Given the description of an element on the screen output the (x, y) to click on. 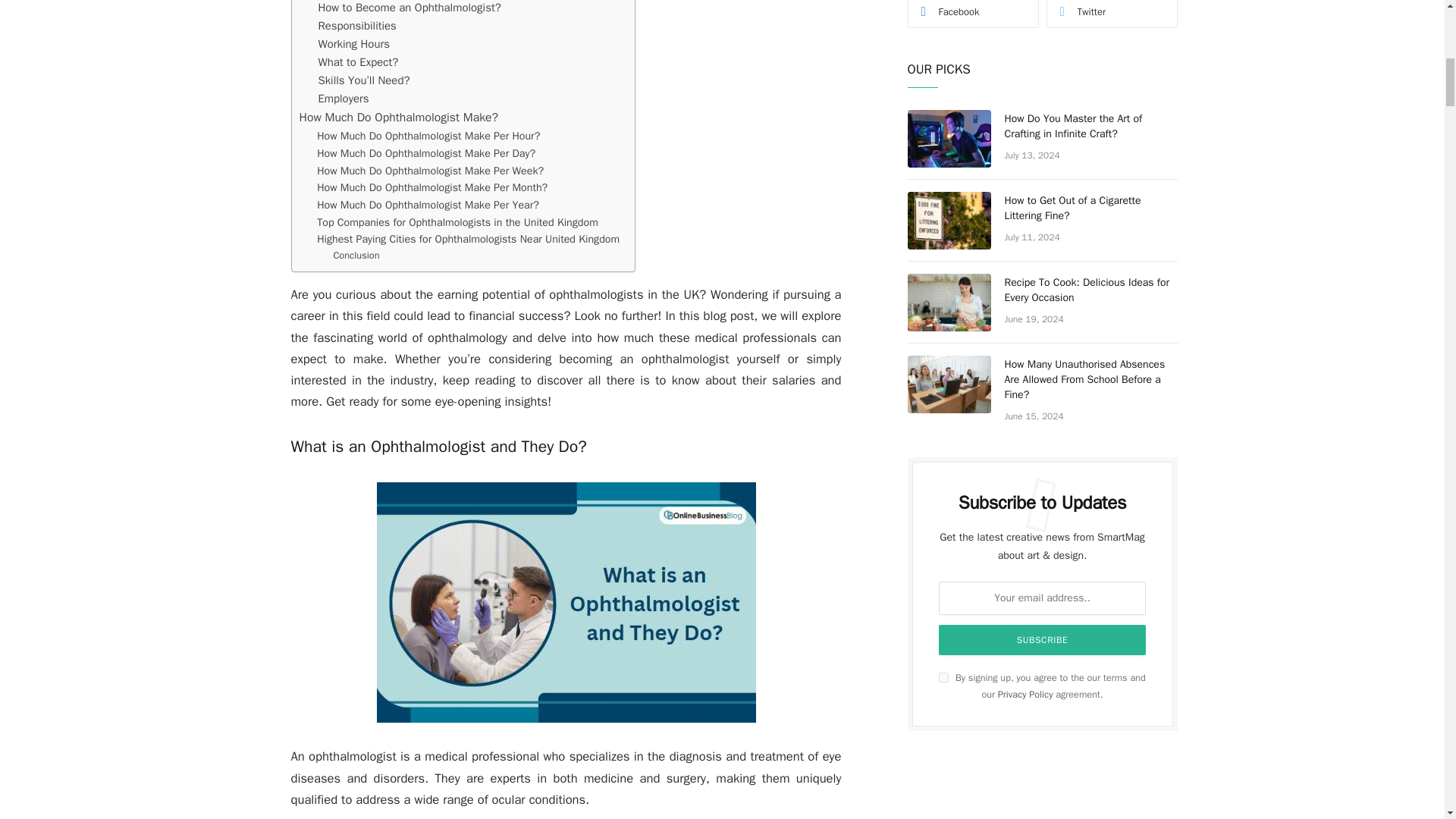
Subscribe (1043, 639)
on (944, 677)
